Given the description of an element on the screen output the (x, y) to click on. 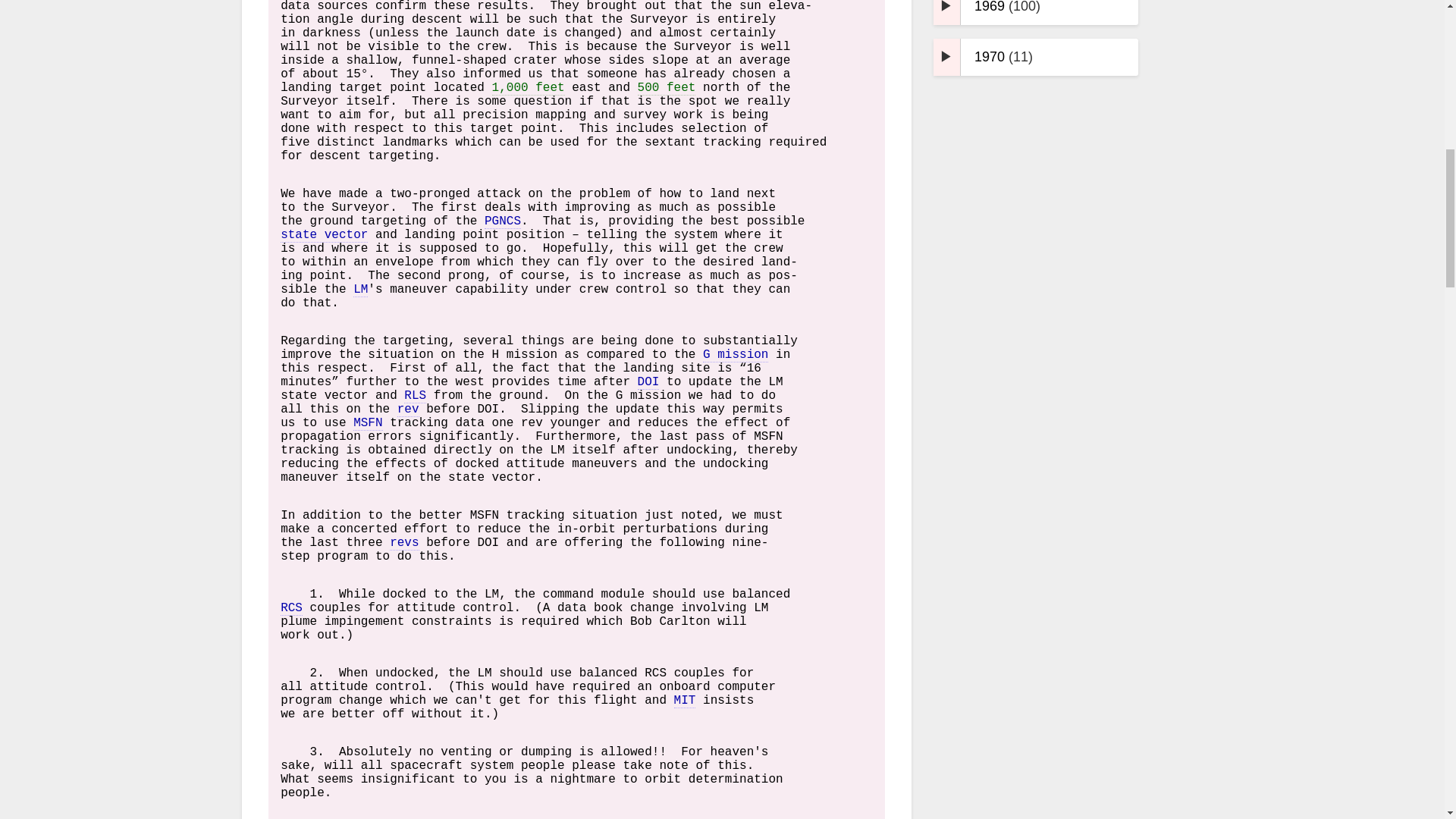
Apollo 11 (735, 355)
Reference Landing Site (415, 396)
304.8 meters (528, 88)
Apollo 12-14 (524, 354)
Descent Orbit Insertion (648, 382)
Primary Guidance, Navigation and Control System (502, 221)
152.4 meters (666, 88)
Apollo 11 (648, 395)
